Given the description of an element on the screen output the (x, y) to click on. 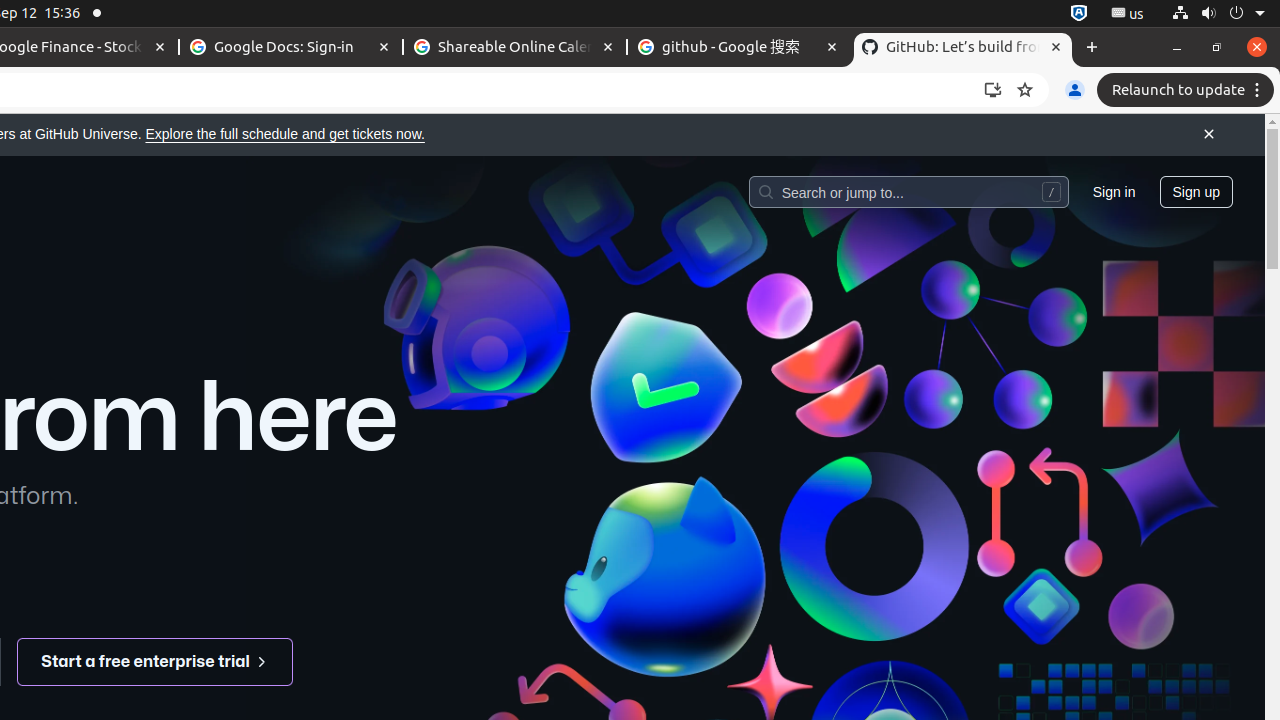
github - Google 搜索 - Memory usage - 111 MB Element type: page-tab (739, 47)
